Given the description of an element on the screen output the (x, y) to click on. 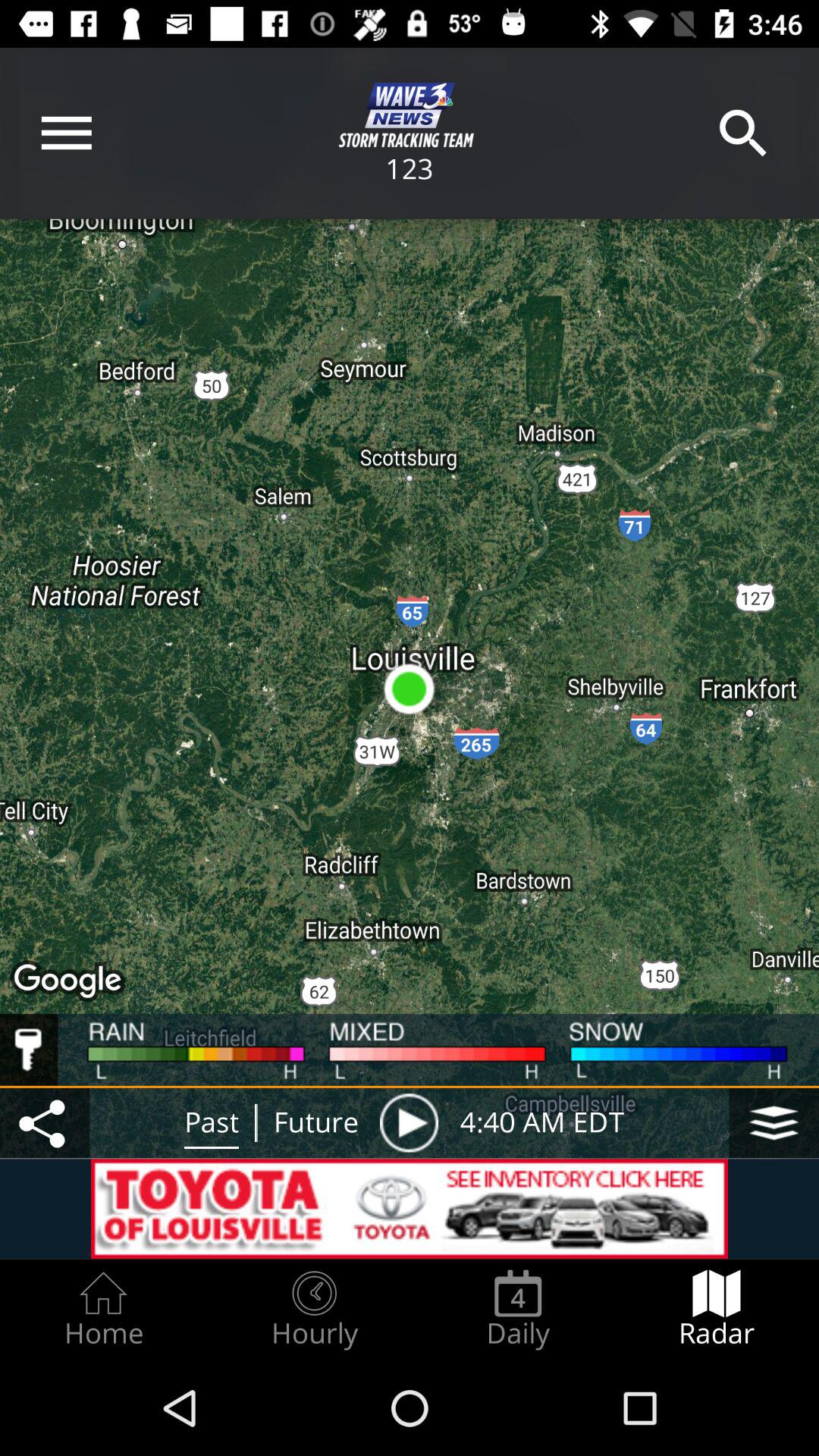
turn off the icon next to daily (314, 1309)
